Given the description of an element on the screen output the (x, y) to click on. 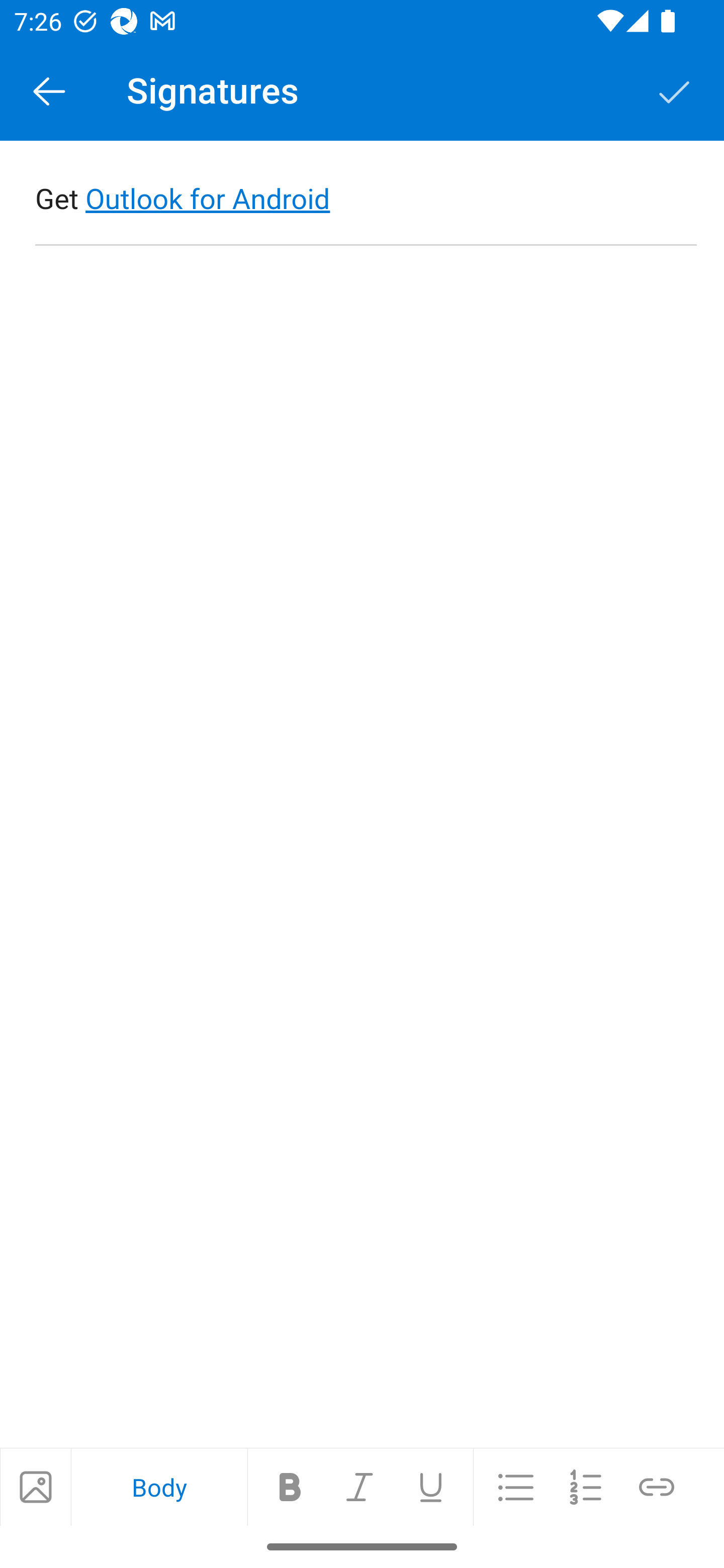
Back (49, 90)
Save (674, 90)
Get Outlook for Android (366, 199)
Font style button body Body (159, 1486)
Choose from photo library (35, 1486)
Bold (290, 1486)
Italics (360, 1486)
Underline (430, 1486)
Bulleted list (515, 1486)
Numbered list (586, 1486)
Add link (656, 1486)
